Given the description of an element on the screen output the (x, y) to click on. 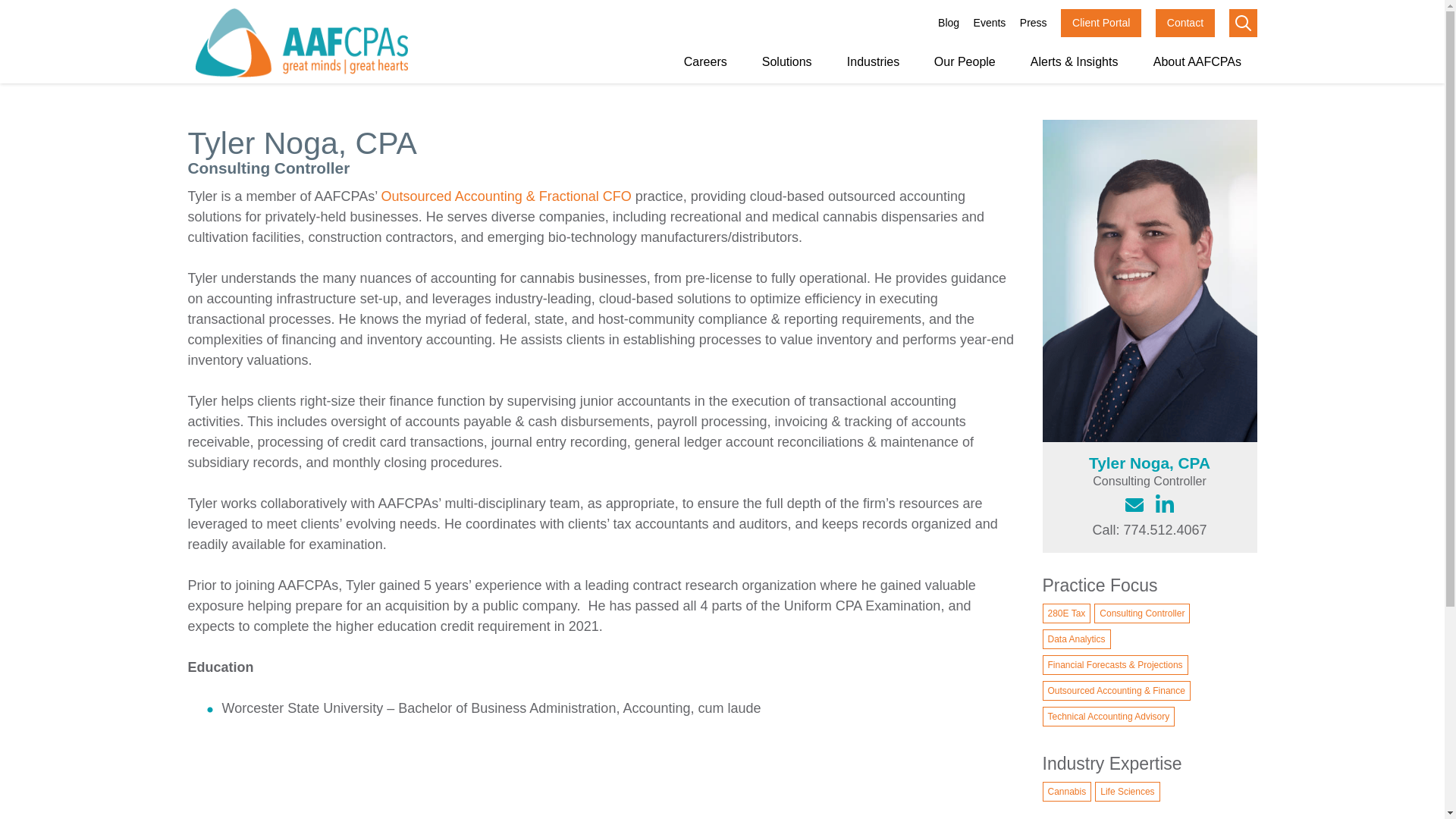
Contact (1185, 22)
Events (990, 22)
Careers (705, 61)
Solutions (786, 61)
Press (1033, 22)
Client Portal (1101, 22)
